Given the description of an element on the screen output the (x, y) to click on. 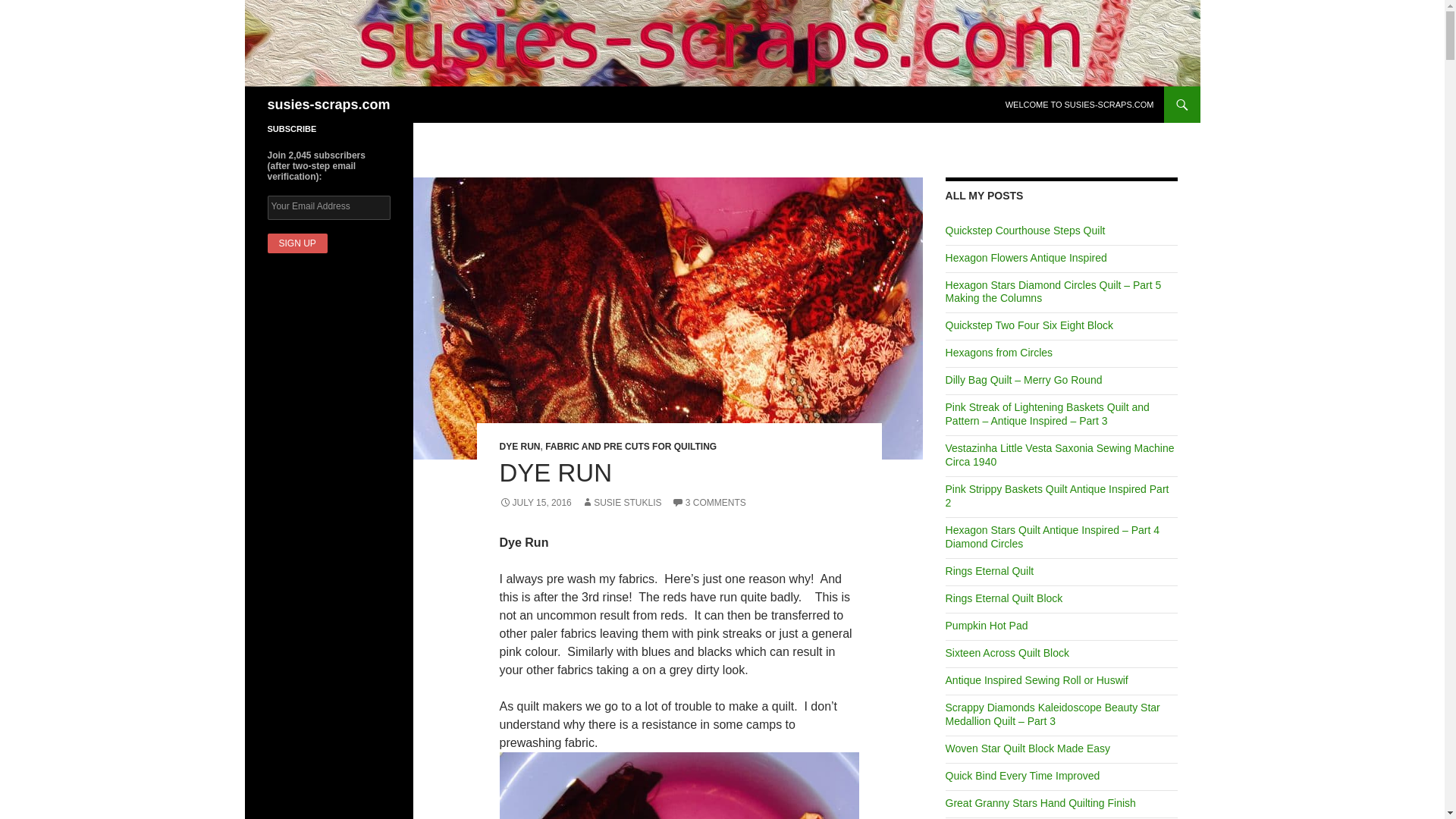
Hexagon Flowers Antique Inspired (1025, 257)
Pink Strippy Baskets Quilt Antique Inspired Part 2 (1056, 495)
DYE RUN (519, 446)
JULY 15, 2016 (534, 502)
Quickstep Courthouse Steps Quilt (1024, 230)
Quickstep Two Four Six Eight Block (1028, 325)
WELCOME TO SUSIES-SCRAPS.COM (1079, 104)
3 COMMENTS (708, 502)
FABRIC AND PRE CUTS FOR QUILTING (630, 446)
Hexagons from Circles (998, 352)
Sign up (296, 243)
SUSIE STUKLIS (620, 502)
Vestazinha Little Vesta Saxonia Sewing Machine Circa 1940 (1059, 454)
